Given the description of an element on the screen output the (x, y) to click on. 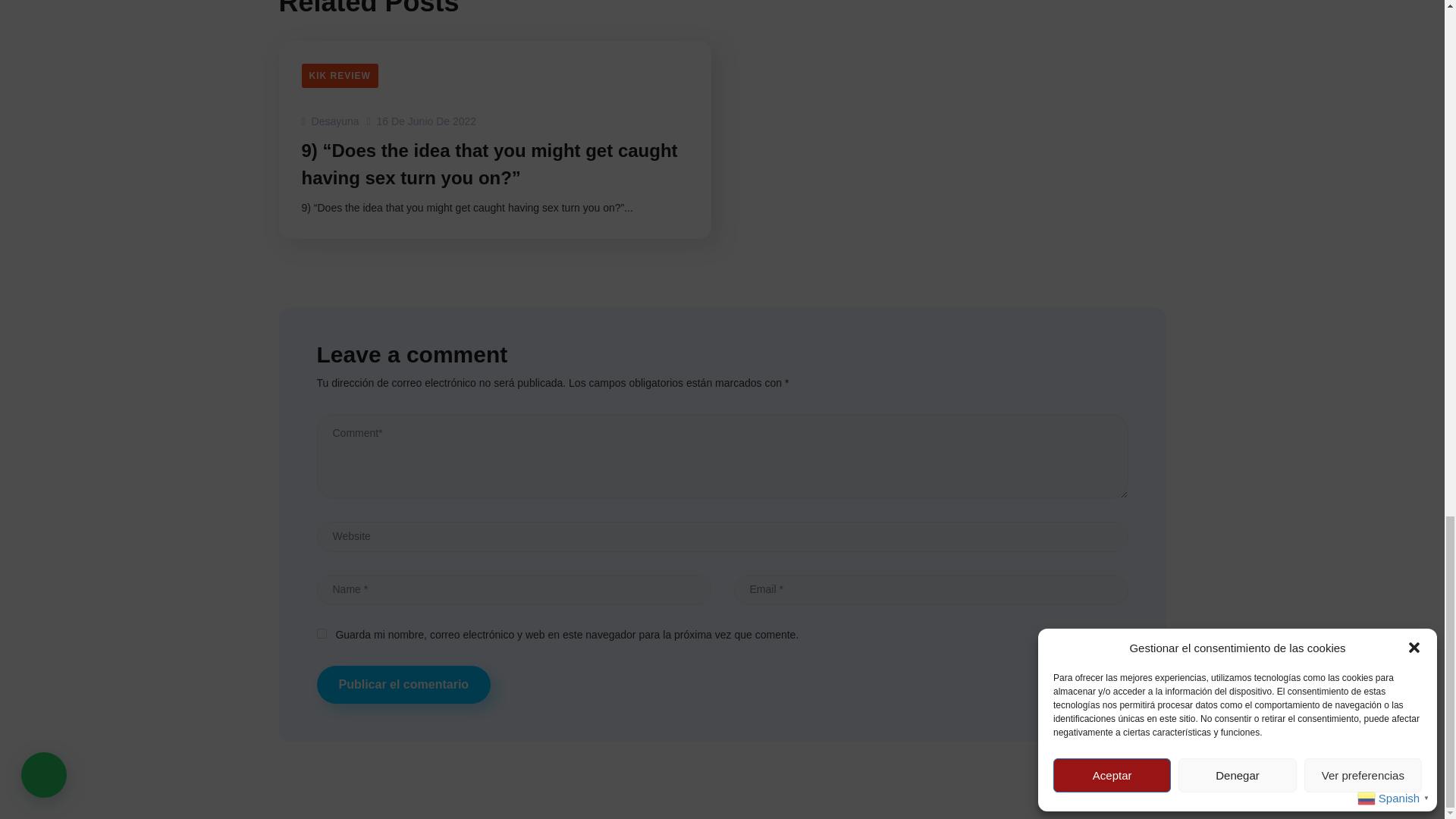
yes (321, 633)
16 De Junio De 2022 (421, 121)
Publicar el comentario (404, 684)
KIK REVIEW (339, 75)
Desayuna (330, 121)
Publicar el comentario (404, 684)
